Given the description of an element on the screen output the (x, y) to click on. 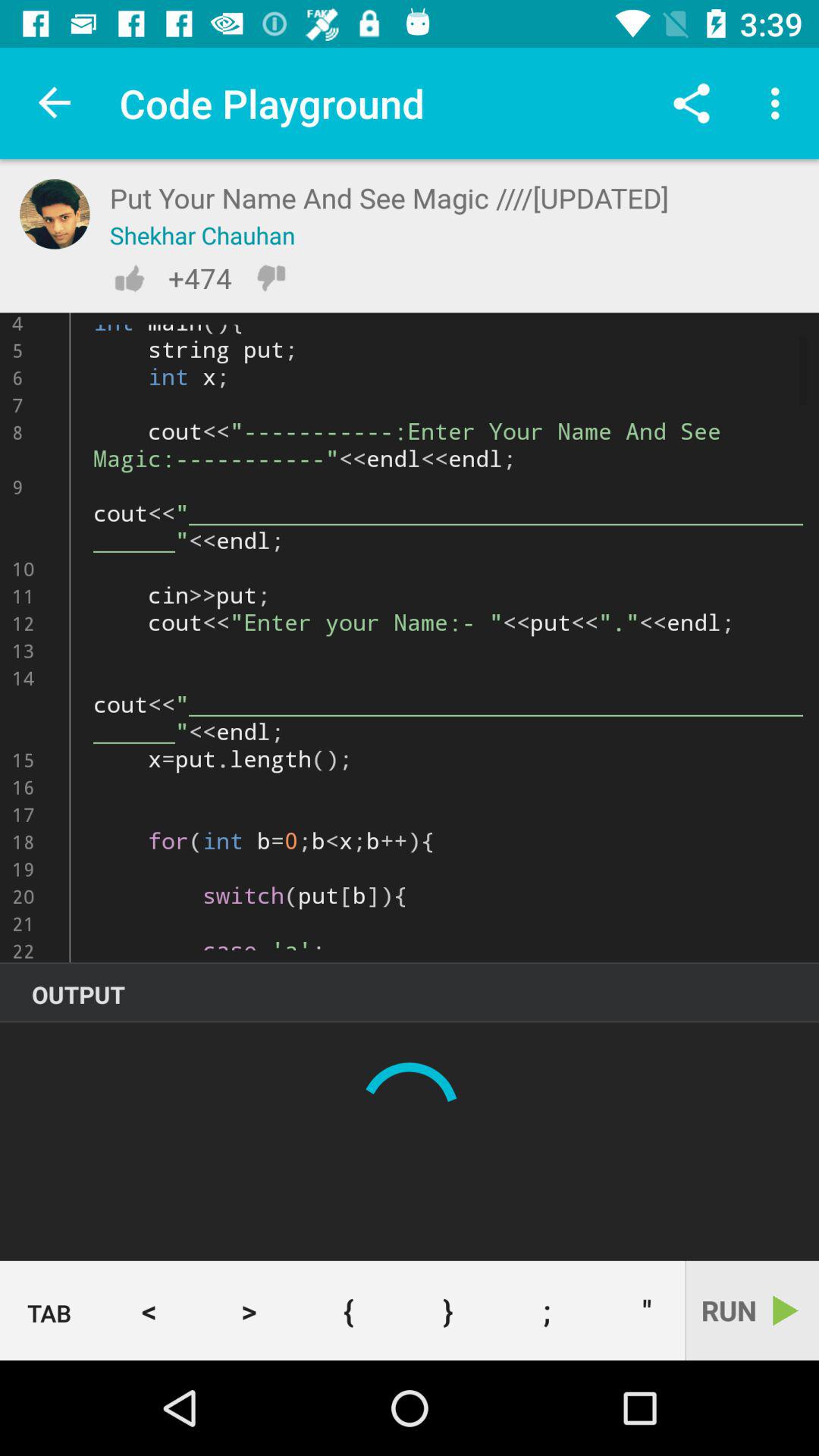
dislike (270, 277)
